Given the description of an element on the screen output the (x, y) to click on. 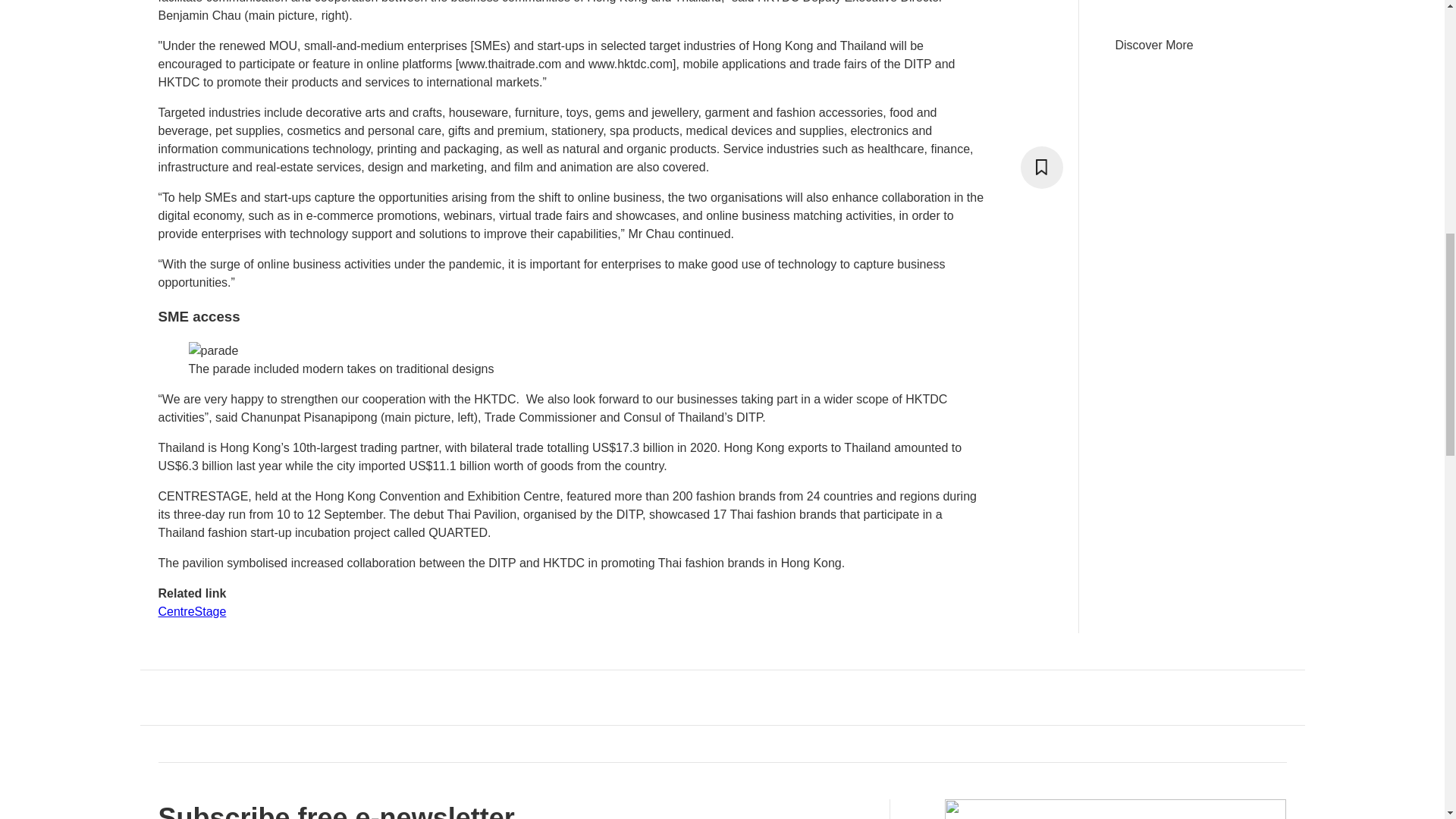
parade (212, 351)
